Given the description of an element on the screen output the (x, y) to click on. 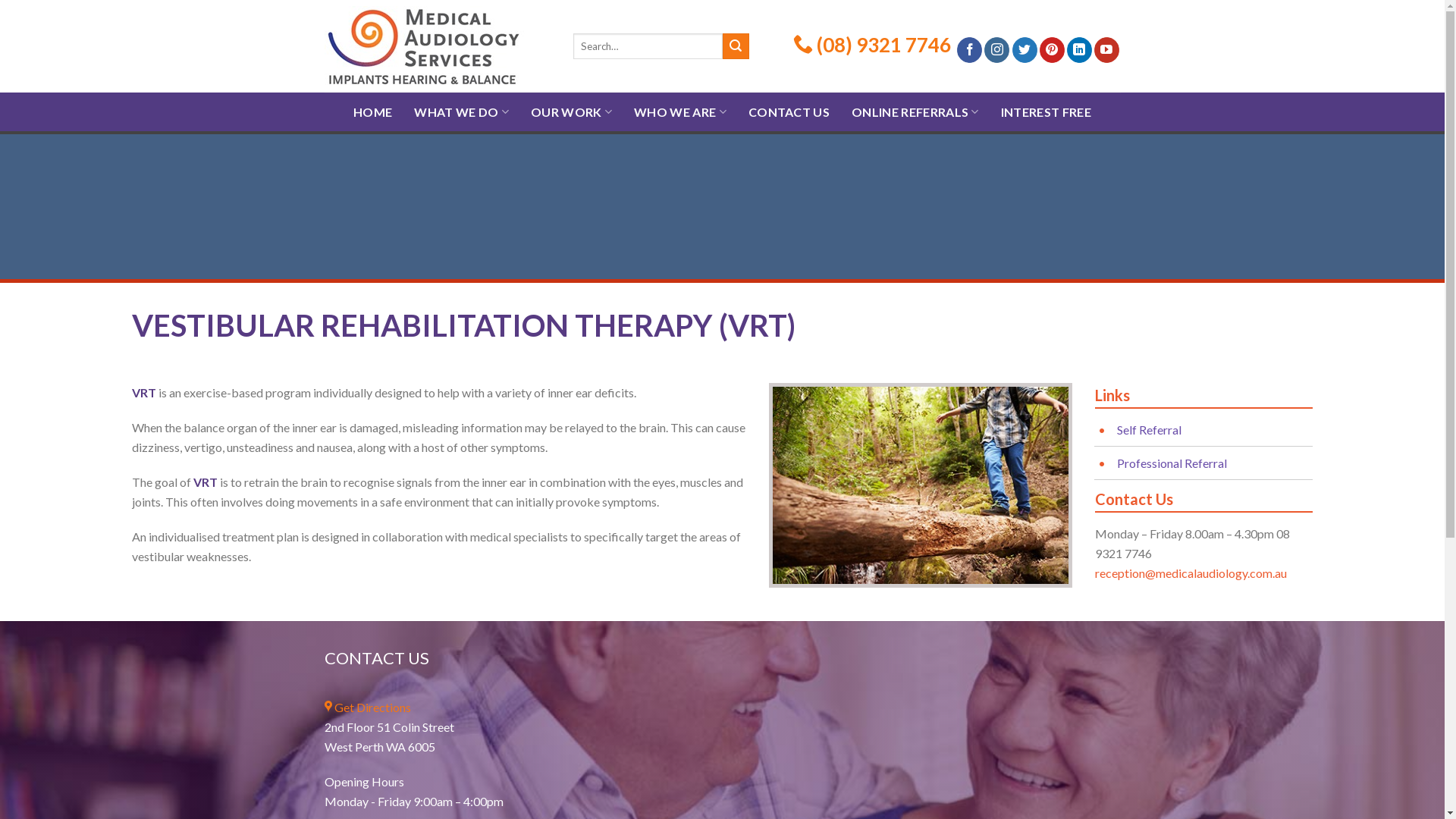
Follow on Facebook Element type: hover (969, 49)
Professional Referral Element type: text (1171, 462)
reception@medicalaudiology.com.au Element type: text (1190, 572)
INTEREST FREE Element type: text (1046, 111)
Follow on LinkedIn Element type: hover (1079, 49)
Self Referral Element type: text (1149, 429)
Medical Audiology Services - Hear the best you can! Element type: hover (437, 46)
Follow on YouTube Element type: hover (1106, 49)
Follow on Pinterest Element type: hover (1051, 49)
Follow on Instagram Element type: hover (996, 49)
WHO WE ARE Element type: text (679, 111)
CONTACT US Element type: text (788, 111)
(08) 9321 7746 Element type: text (881, 44)
ONLINE REFERRALS Element type: text (915, 111)
OUR WORK Element type: text (570, 111)
Follow on Twitter Element type: hover (1024, 49)
HOME Element type: text (372, 111)
WHAT WE DO Element type: text (461, 111)
